Given the description of an element on the screen output the (x, y) to click on. 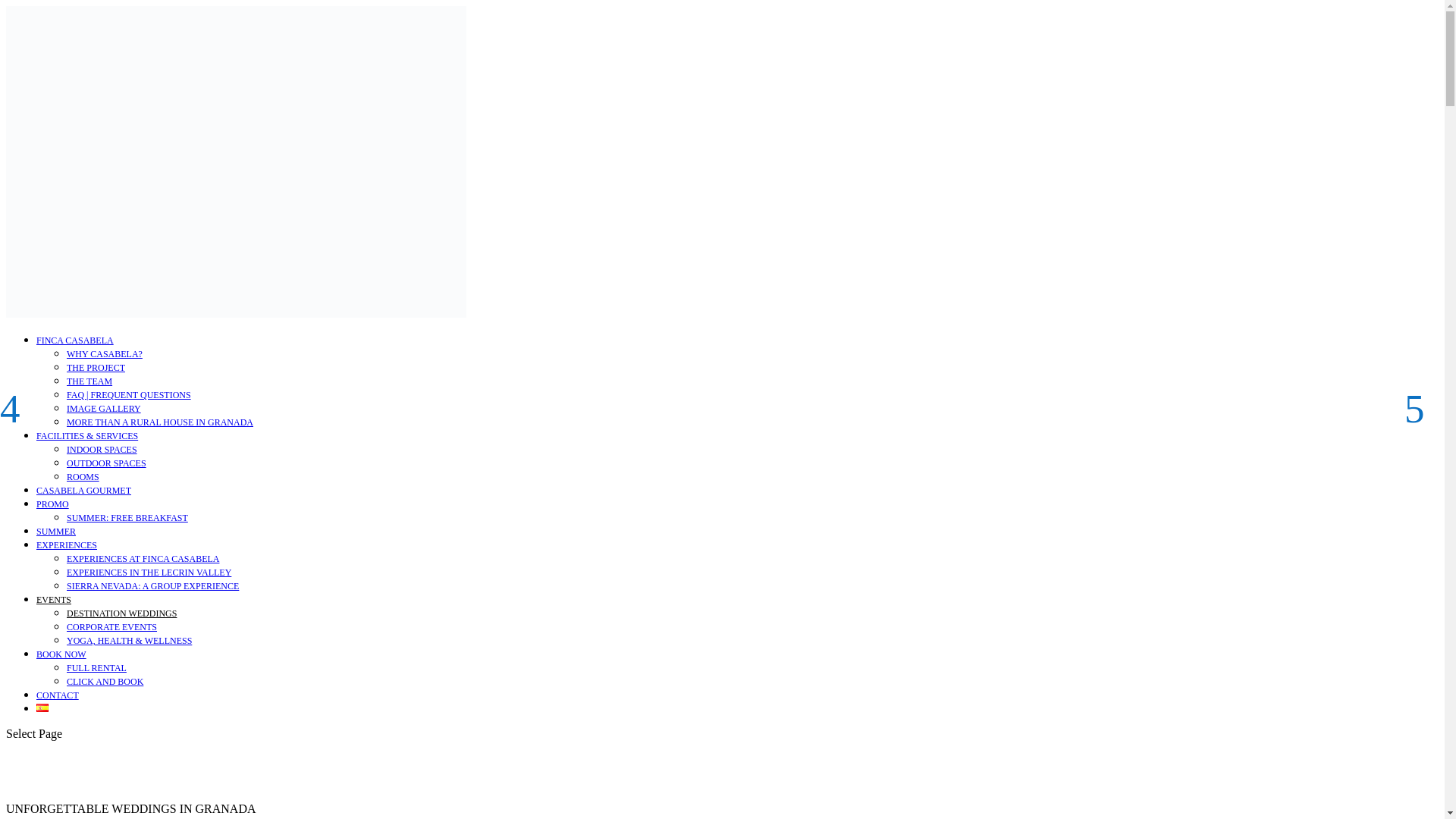
WHY CASABELA? (104, 353)
THE TEAM (89, 380)
SUMMER (55, 531)
EVENTS (53, 599)
EXPERIENCES IN THE LECRIN VALLEY (148, 572)
FINCA CASABELA (74, 339)
THE PROJECT (95, 367)
EXPERIENCES (66, 544)
EXPERIENCES AT FINCA CASABELA (142, 558)
CONTACT (57, 695)
